Given the description of an element on the screen output the (x, y) to click on. 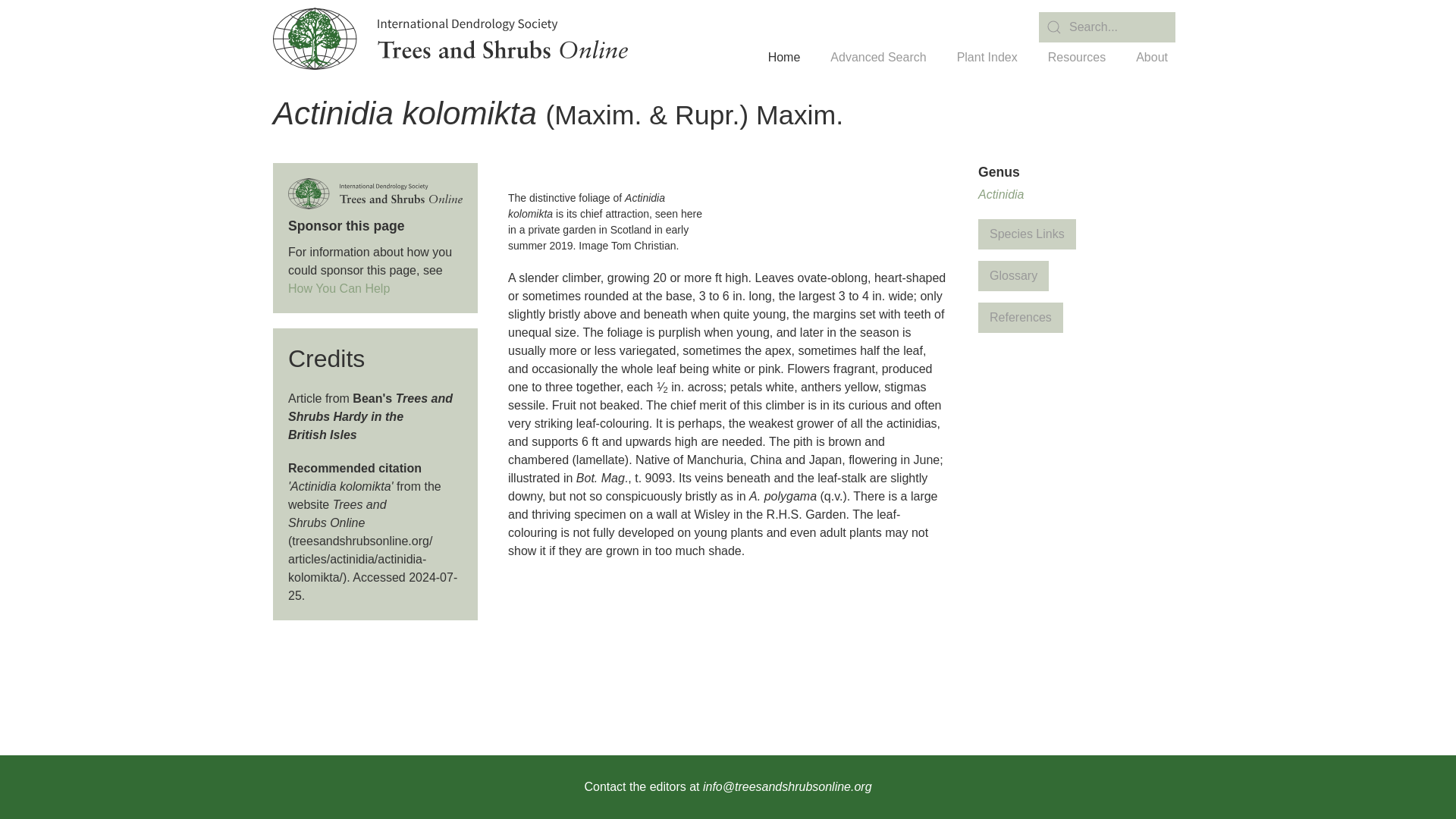
References (1020, 317)
About (1151, 57)
Glossary (1013, 276)
Resources (1076, 57)
Species Links (1026, 234)
Home (783, 57)
Actinidia (1000, 194)
Plant Index (987, 57)
How You Can Help (339, 287)
Advanced Search (877, 57)
